Given the description of an element on the screen output the (x, y) to click on. 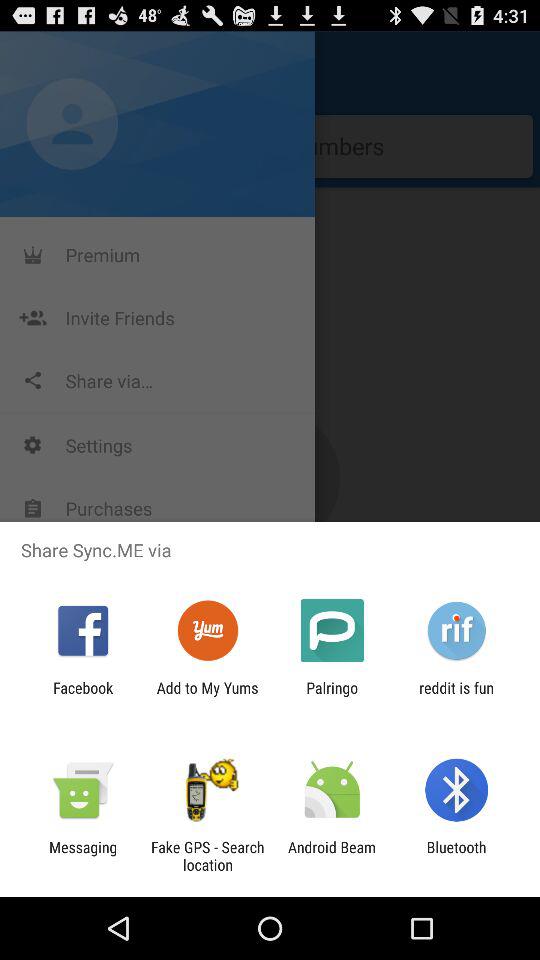
open the item to the left of bluetooth item (332, 856)
